Given the description of an element on the screen output the (x, y) to click on. 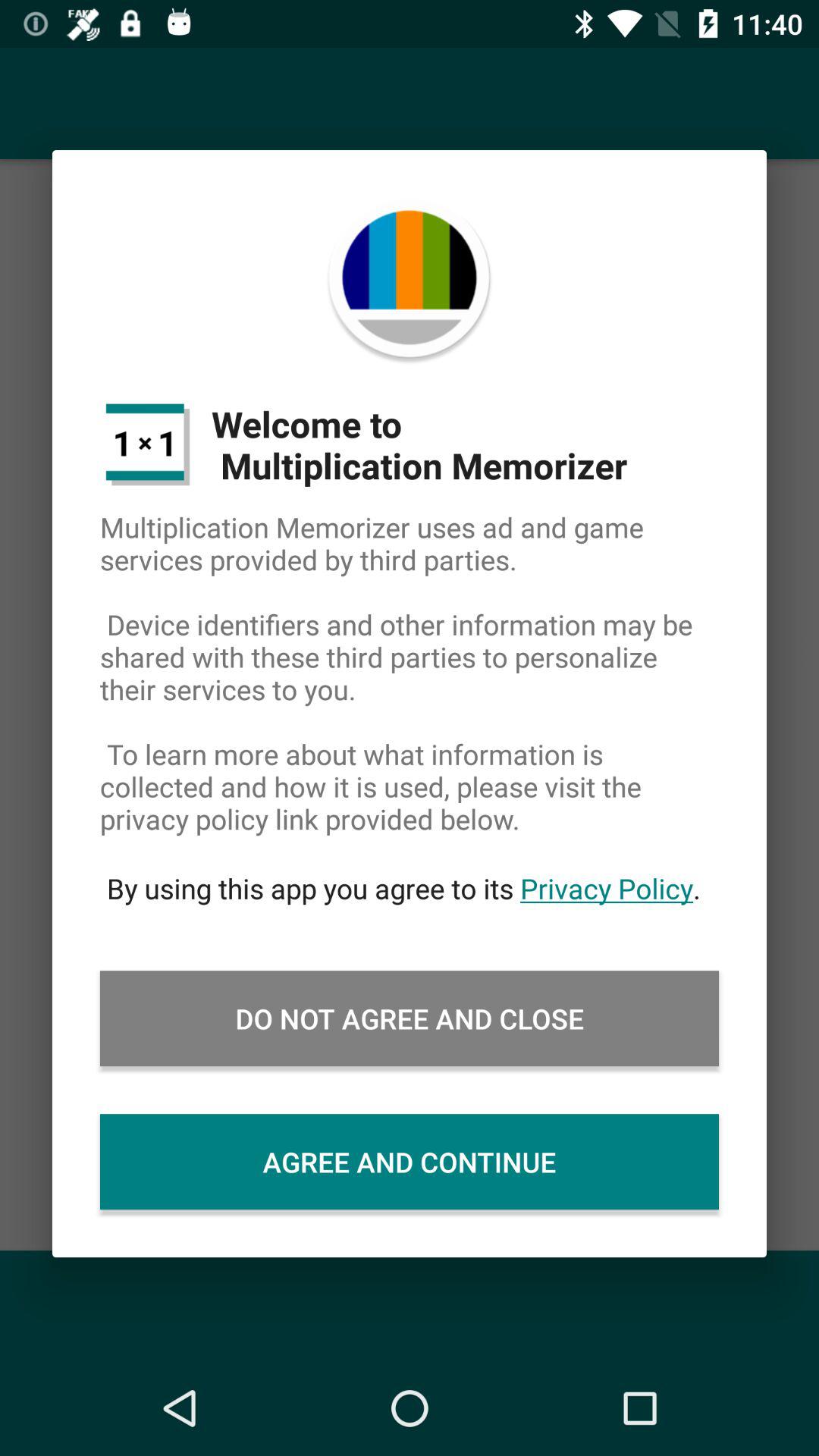
launch the do not agree item (409, 1018)
